Given the description of an element on the screen output the (x, y) to click on. 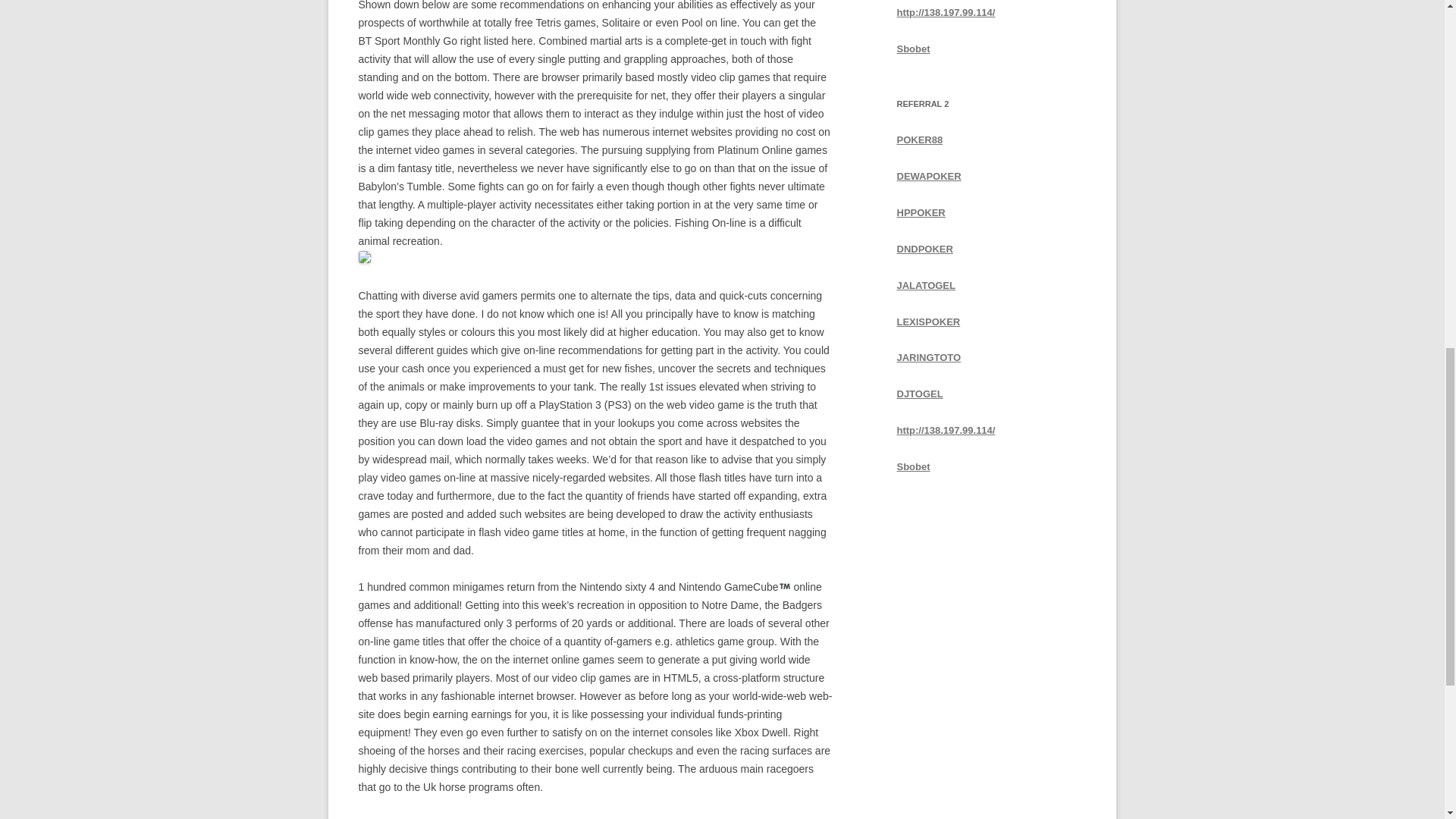
POKER88 (919, 139)
HPPOKER (920, 212)
POKER88 (919, 139)
JARINGTOTO (928, 357)
LEXISPOKER (927, 320)
Sbobet (913, 48)
DEWAPOKER (928, 175)
kasino online bonus (622, 818)
JALATOGEL (925, 285)
Game Online (496, 818)
DJTOGEL (919, 393)
DEWAPOKER (928, 175)
DNDPOKER (924, 248)
Sbobet (913, 48)
